Given the description of an element on the screen output the (x, y) to click on. 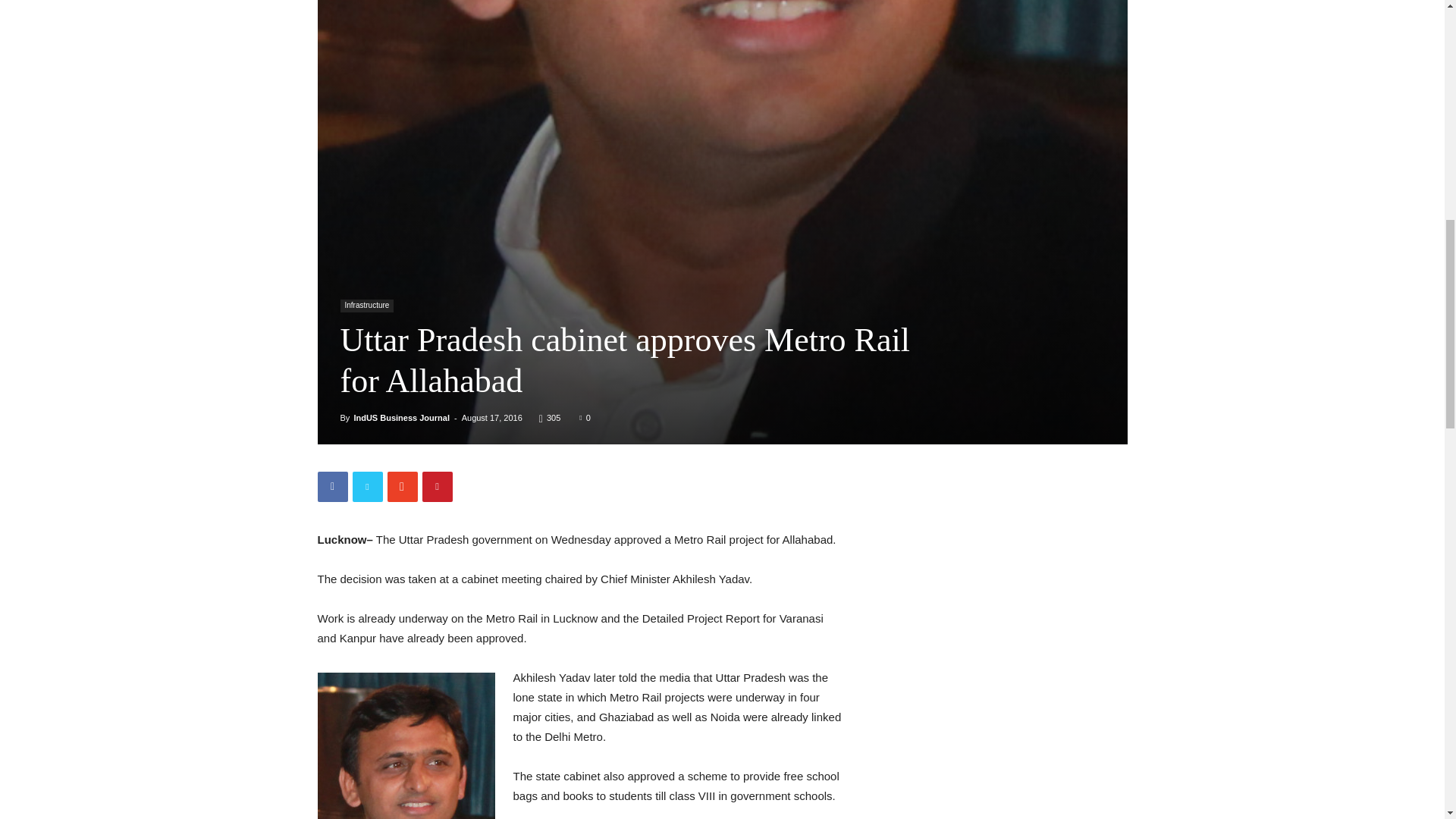
Infrastructure (366, 305)
IndUS Business Journal (401, 417)
0 (584, 417)
